Given the description of an element on the screen output the (x, y) to click on. 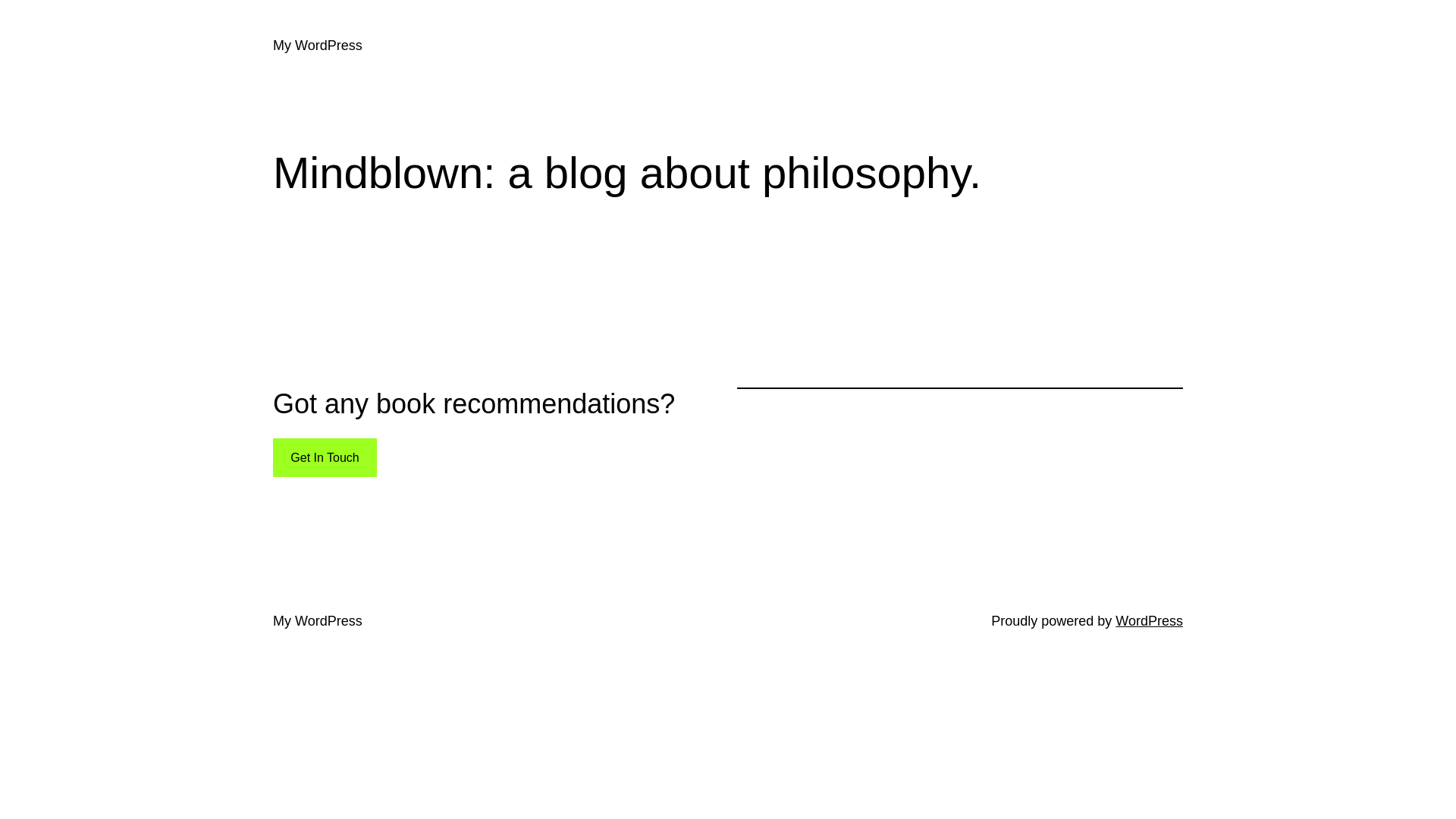
Get In Touch Element type: text (324, 457)
My WordPress Element type: text (317, 45)
My WordPress Element type: text (317, 620)
WordPress Element type: text (1149, 620)
